Given the description of an element on the screen output the (x, y) to click on. 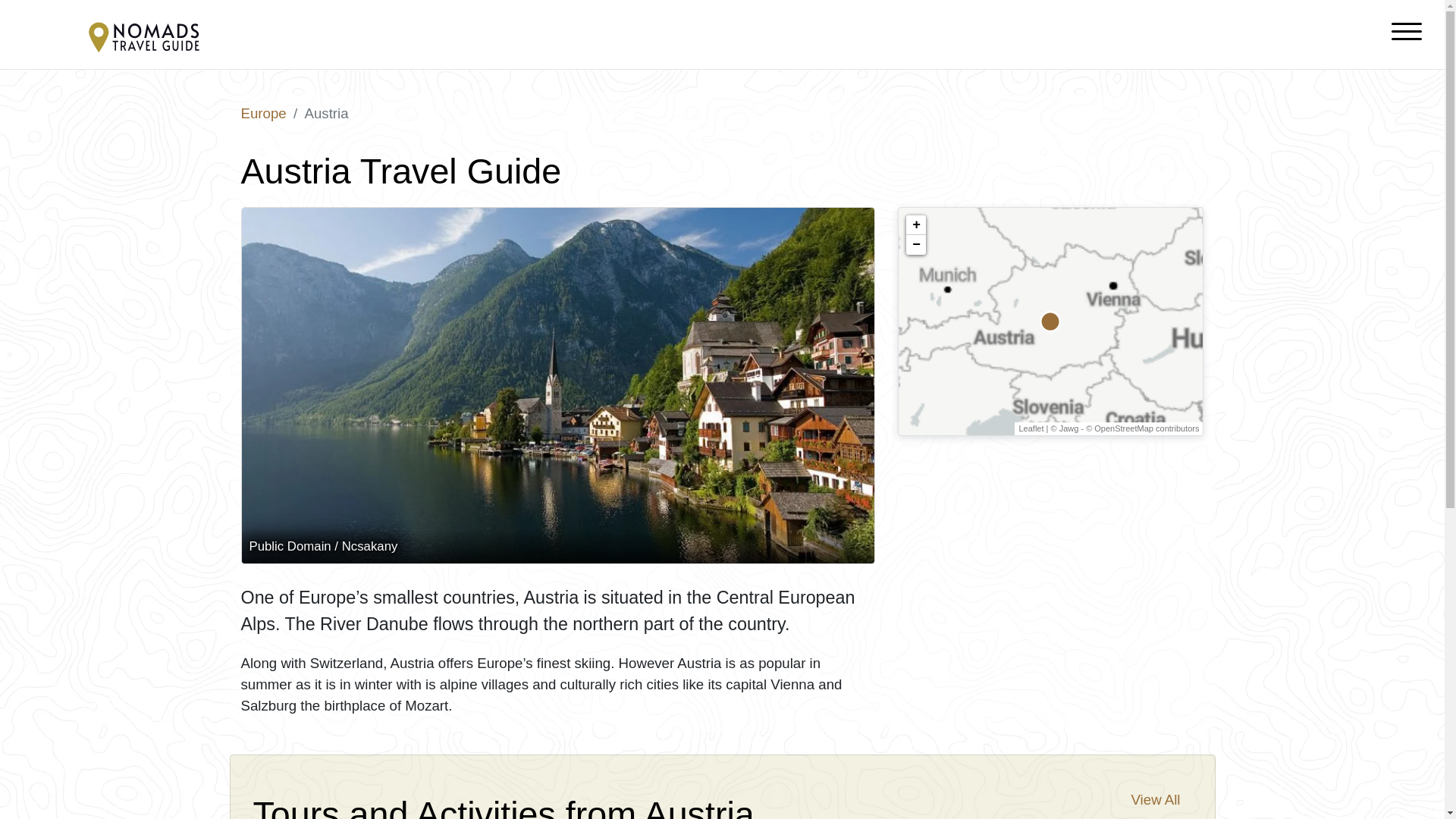
Zoom in (915, 225)
Zoom out (915, 244)
Europe (263, 113)
A JS library for interactive maps (1030, 428)
View All (1155, 799)
Leaflet (1030, 428)
